Given the description of an element on the screen output the (x, y) to click on. 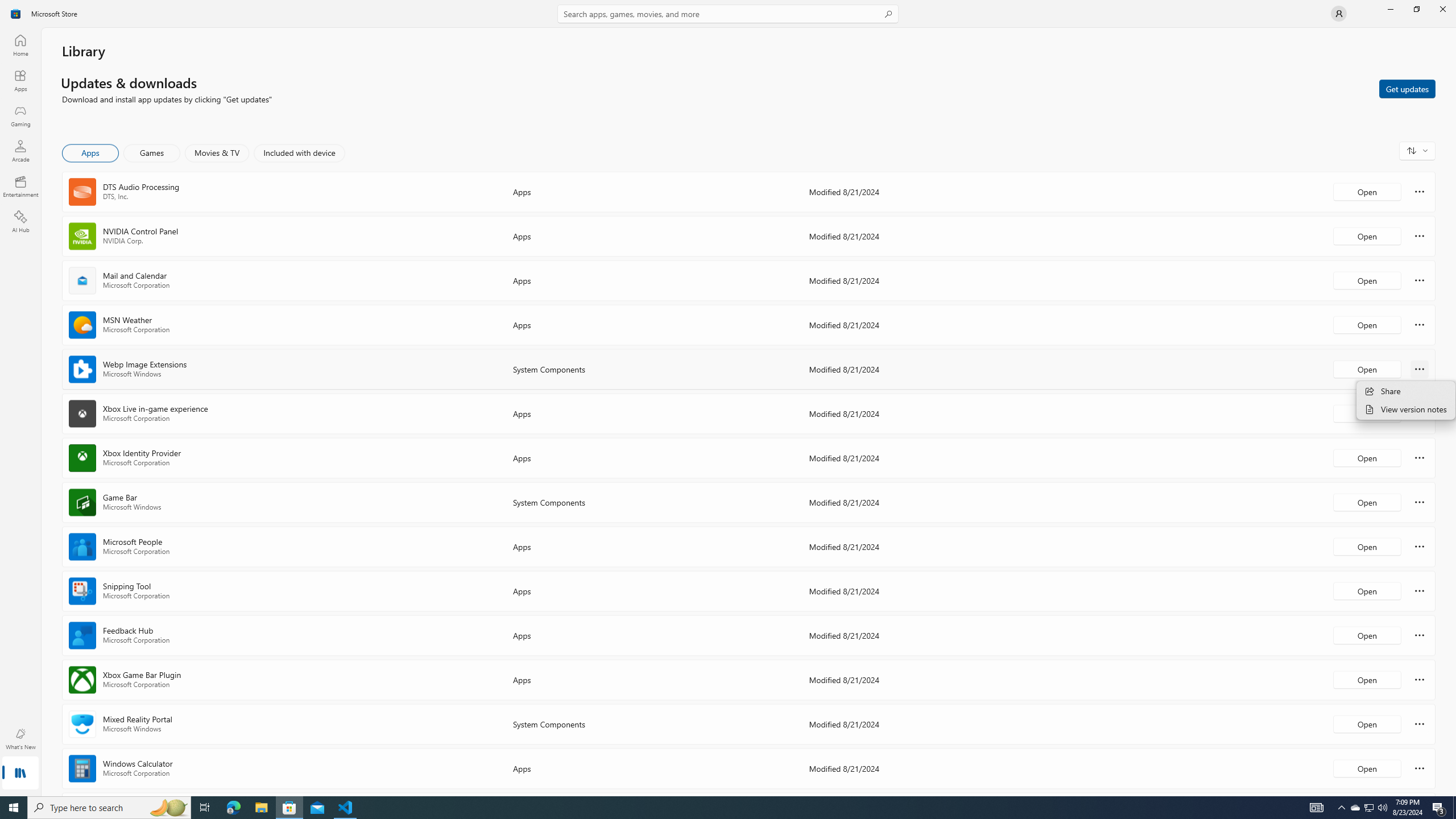
Entertainment (20, 185)
AutomationID: NavigationControl (728, 398)
User profile (1338, 13)
Search (727, 13)
Arcade (20, 150)
Included with device (299, 153)
Close Microsoft Store (1442, 9)
Home (20, 45)
Restore Microsoft Store (1416, 9)
Gaming (20, 115)
What's New (20, 738)
Open (1366, 768)
Minimize Microsoft Store (1390, 9)
Library (20, 773)
